Given the description of an element on the screen output the (x, y) to click on. 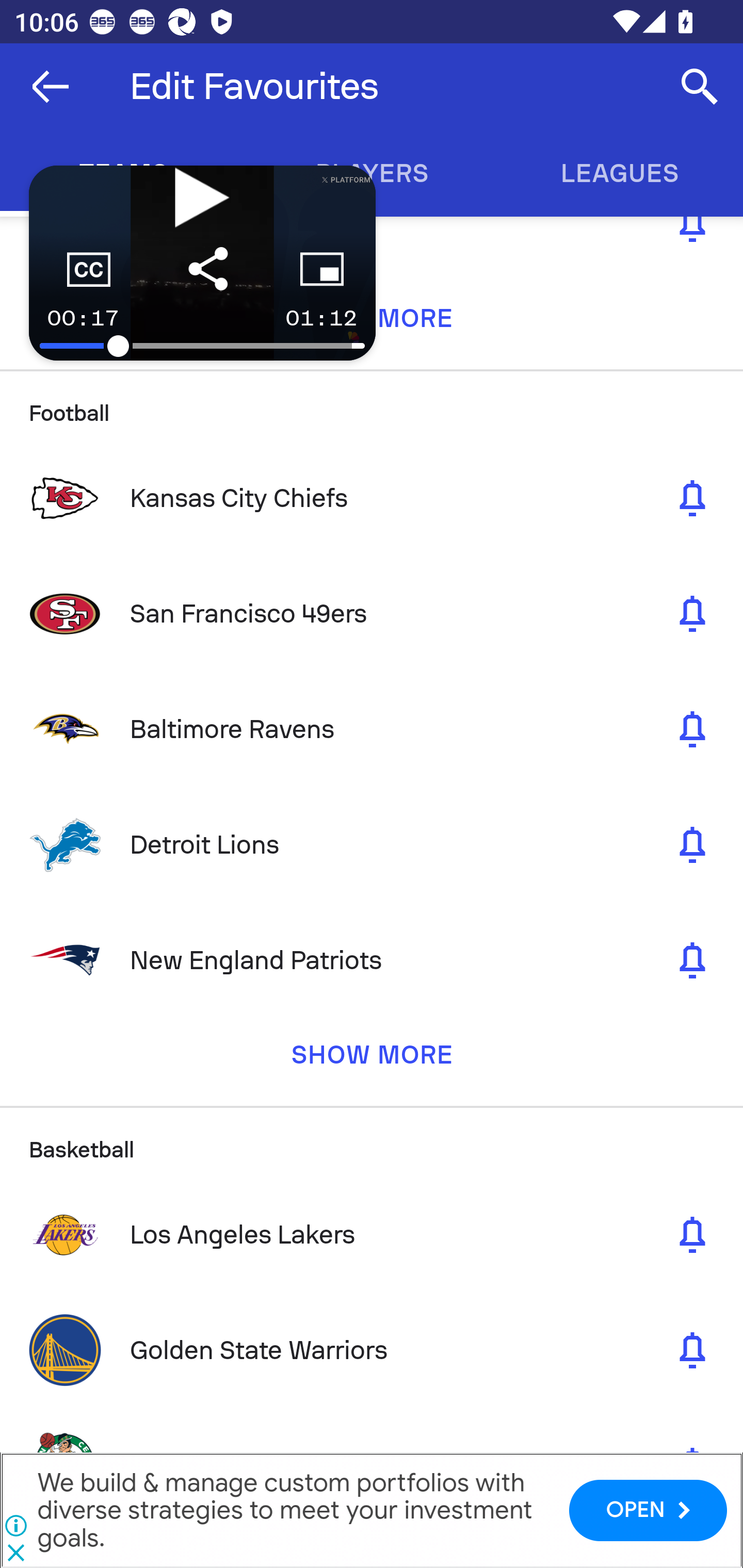
Navigate up (50, 86)
Search (699, 86)
Leagues LEAGUES (619, 173)
Football (371, 405)
Kansas City Chiefs (371, 498)
San Francisco 49ers (371, 613)
Baltimore Ravens (371, 729)
Detroit Lions (371, 845)
New England Patriots (371, 960)
SHOW MORE (371, 1061)
Basketball (371, 1141)
Los Angeles Lakers (371, 1234)
Golden State Warriors (371, 1350)
OPEN (647, 1509)
